Given the description of an element on the screen output the (x, y) to click on. 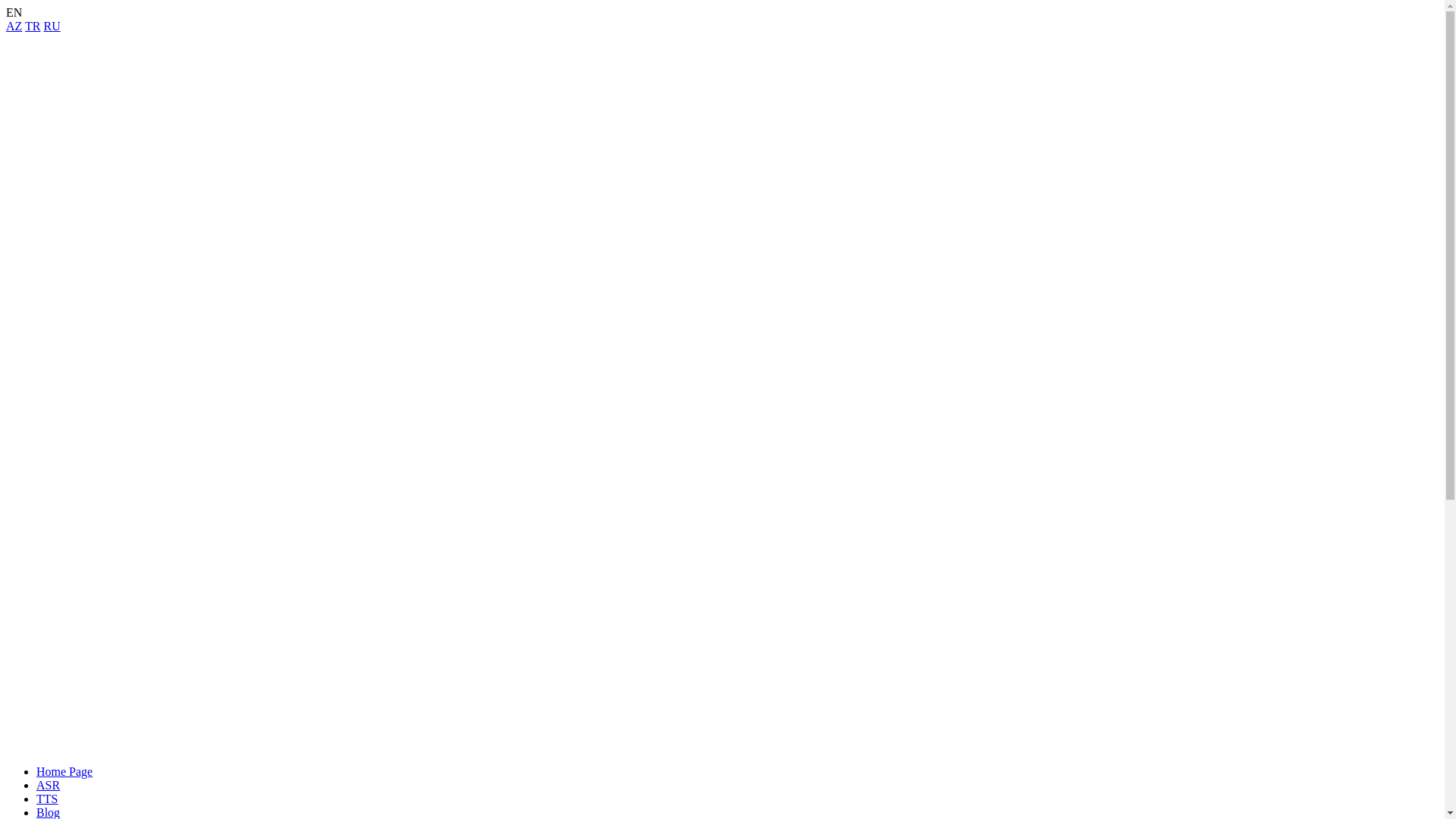
AZ Element type: text (13, 25)
RU Element type: text (51, 25)
ASR Element type: text (47, 784)
TTS Element type: text (46, 798)
TR Element type: text (32, 25)
Home Page Element type: text (64, 771)
